Given the description of an element on the screen output the (x, y) to click on. 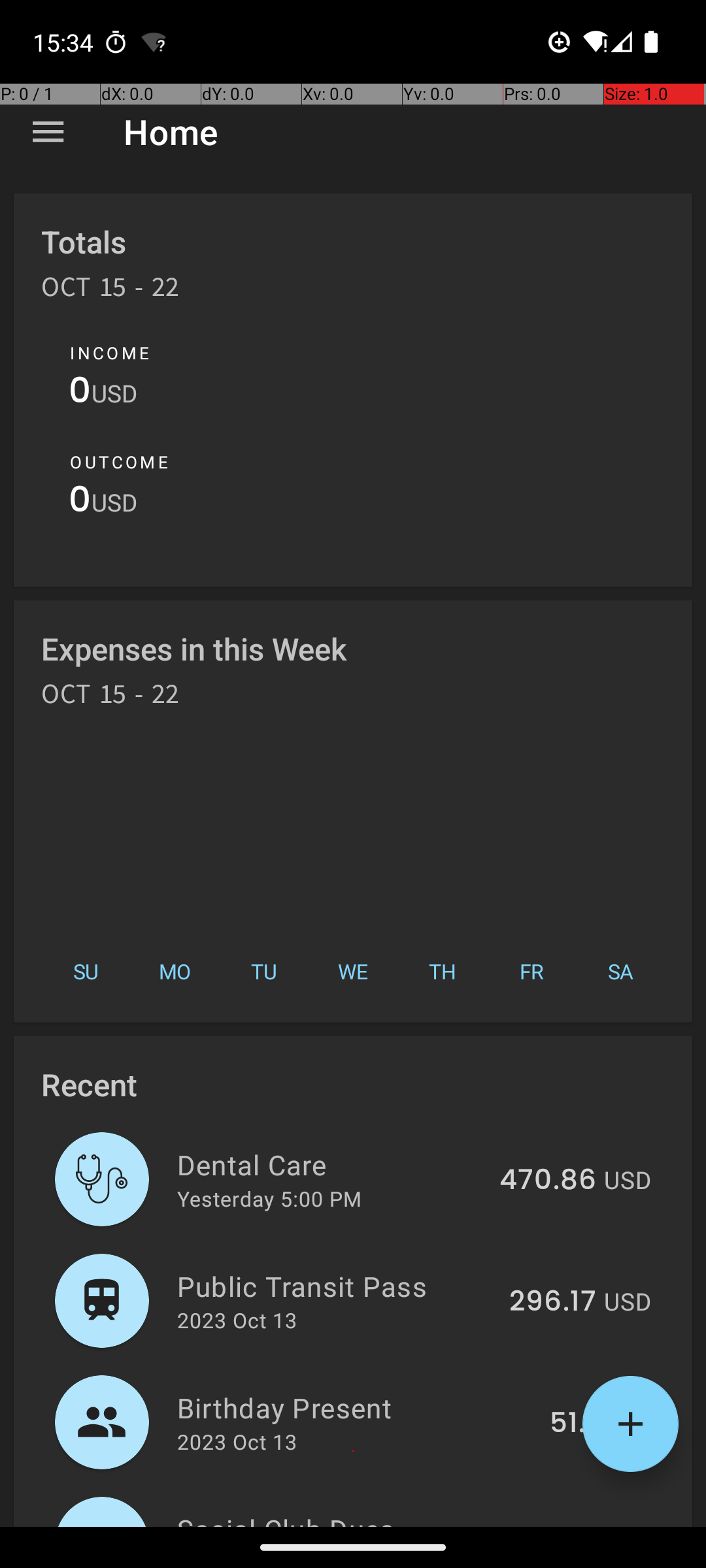
Yesterday 5:00 PM Element type: android.widget.TextView (269, 1198)
470.86 Element type: android.widget.TextView (547, 1180)
Public Transit Pass Element type: android.widget.TextView (335, 1285)
296.17 Element type: android.widget.TextView (552, 1301)
Birthday Present Element type: android.widget.TextView (355, 1407)
51.1 Element type: android.widget.TextView (572, 1423)
Social Club Dues Element type: android.widget.TextView (330, 1518)
339.66 Element type: android.widget.TextView (547, 1524)
